Given the description of an element on the screen output the (x, y) to click on. 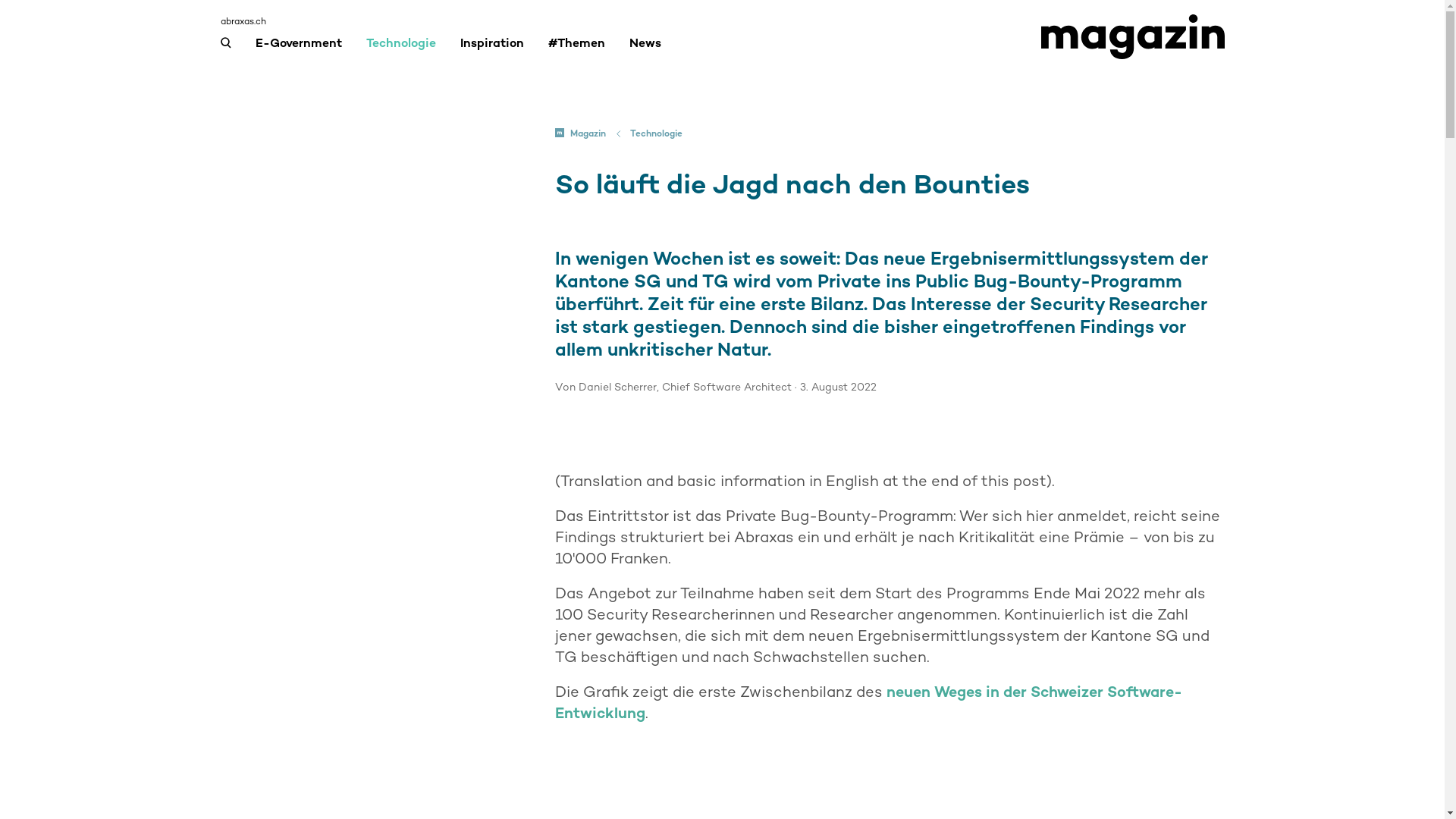
E-Government Element type: text (297, 49)
Inspiration Element type: text (491, 49)
Technologie Element type: text (656, 133)
News Element type: text (645, 49)
Technologie Element type: text (400, 49)
Magazin Element type: text (580, 133)
#Themen Element type: text (575, 49)
neuen Weges in der Schweizer Software-Entwicklung Element type: text (868, 701)
abraxas.ch Element type: text (242, 21)
